Given the description of an element on the screen output the (x, y) to click on. 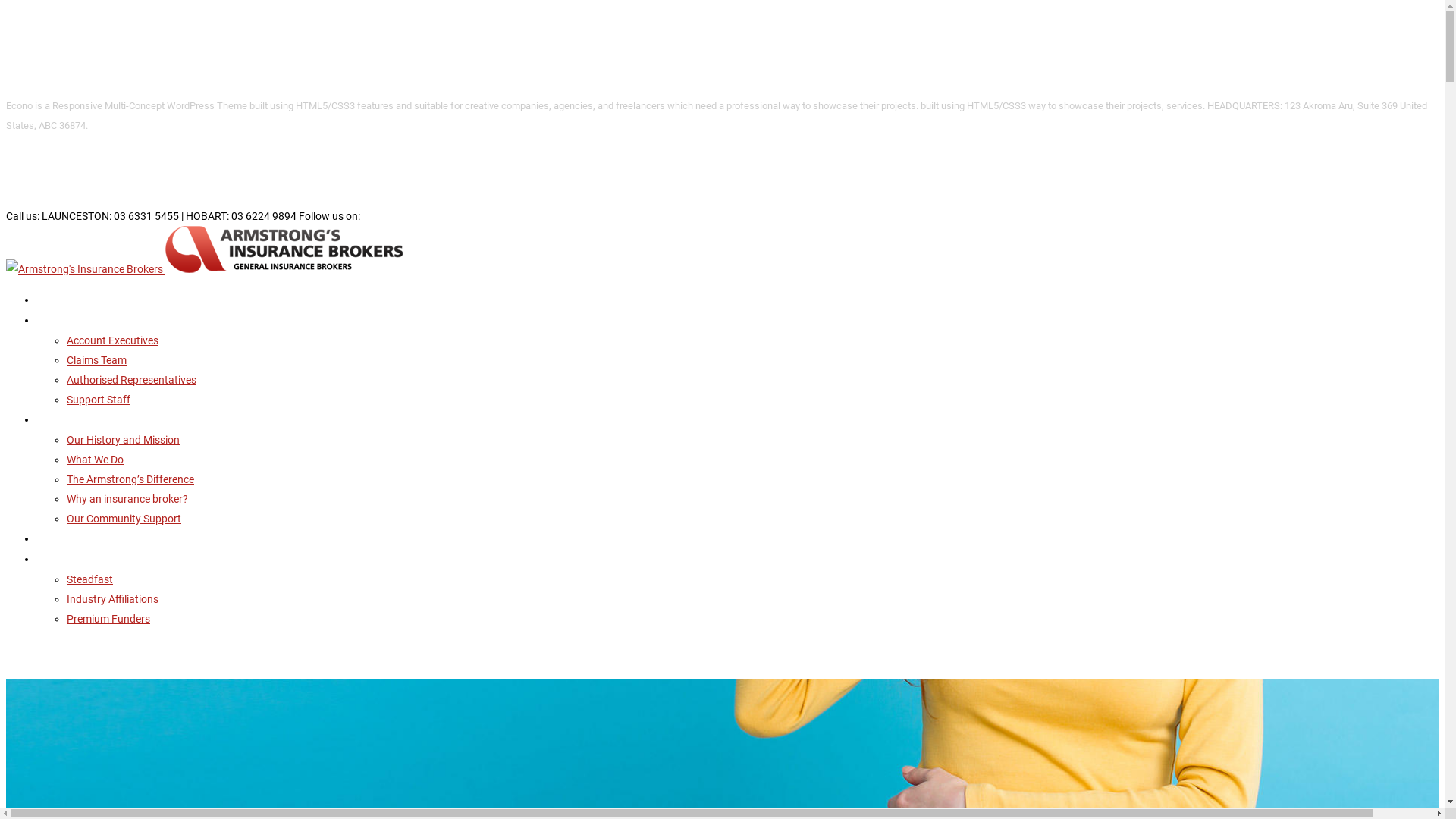
STRATEGIC PARTNERS Element type: text (87, 558)
What We Do Element type: text (94, 459)
Support Staff Element type: text (98, 399)
Steadfast Element type: text (89, 579)
Industry Affiliations Element type: text (112, 599)
ABOUT US Element type: text (60, 419)
Our History and Mission Element type: text (122, 439)
Account Executives Element type: text (112, 340)
Authorised Representatives Element type: text (131, 379)
Premium Funders Element type: text (108, 618)
Why an insurance broker? Element type: text (127, 498)
HOME PAGE Element type: text (63, 299)
Our Community Support Element type: text (123, 518)
CONTACT US Element type: text (66, 538)
STAFF Element type: text (50, 320)
Claims Team Element type: text (96, 360)
